Given the description of an element on the screen output the (x, y) to click on. 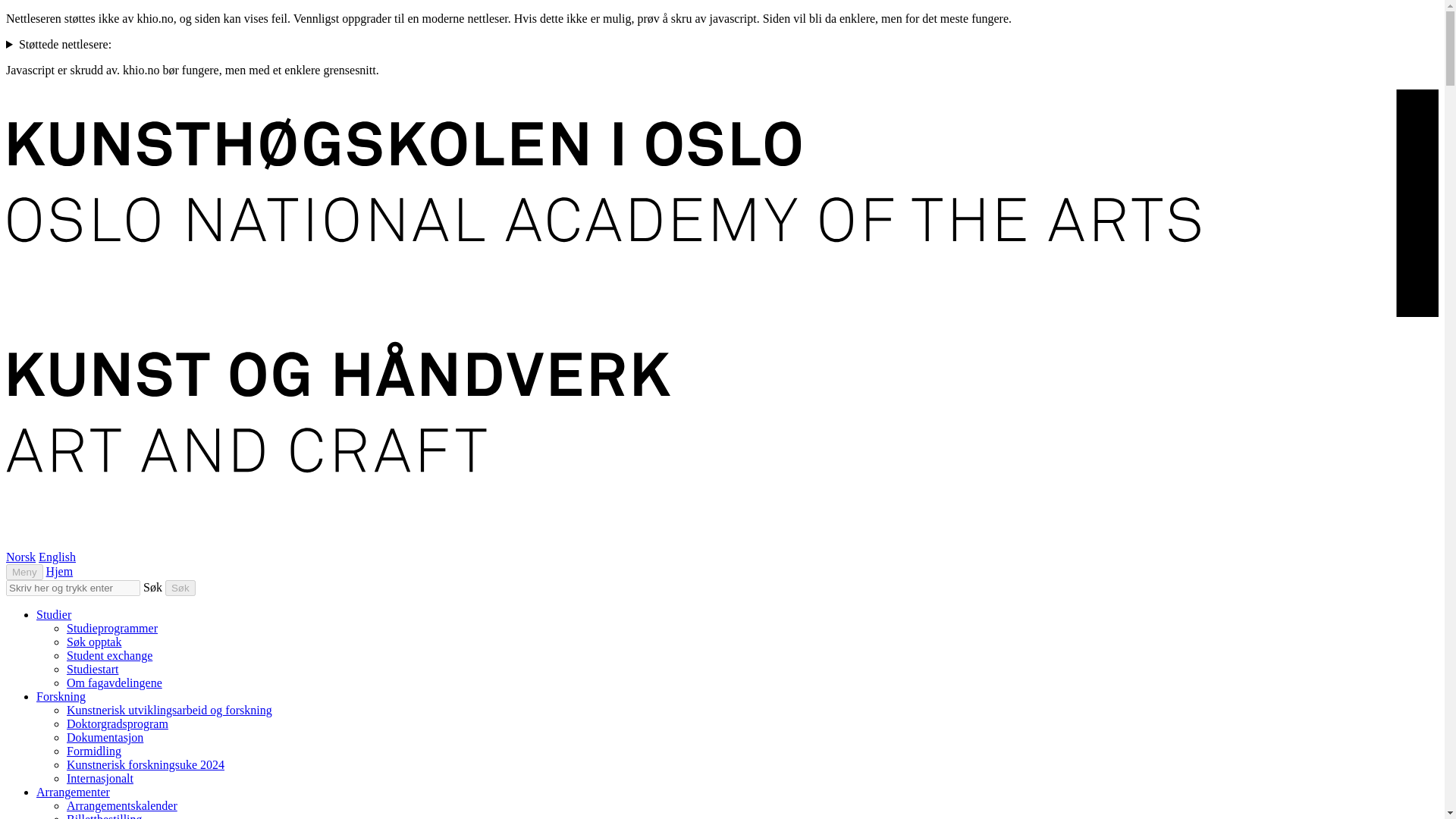
Kunstnerisk utviklingsarbeid og forskning (169, 709)
Formidling (93, 750)
Dokumentasjon (104, 737)
Om fagavdelingene (113, 682)
Hjem (60, 571)
Hjem (60, 571)
Arrangementer (73, 791)
English (57, 556)
Forskning (60, 696)
Student exchange (109, 655)
Studieprogrammer (111, 627)
Arrangementskalender (121, 805)
Norsk (19, 556)
Billettbestilling (104, 816)
Studier (53, 614)
